Given the description of an element on the screen output the (x, y) to click on. 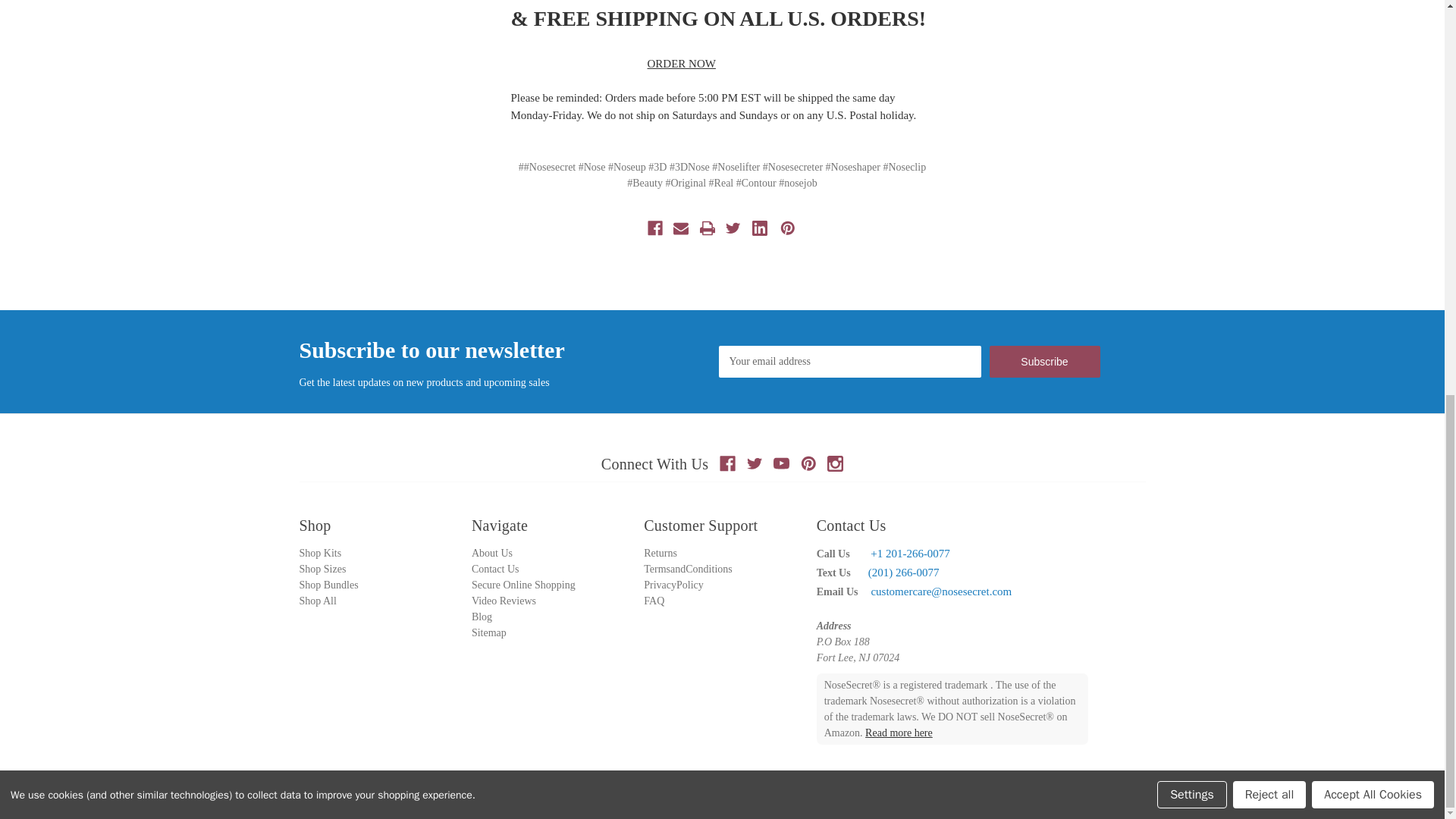
Subscribe (1043, 361)
Pinterest (808, 463)
Facebook (727, 463)
Twitter (754, 463)
Youtube (781, 463)
Instagram (835, 463)
